Given the description of an element on the screen output the (x, y) to click on. 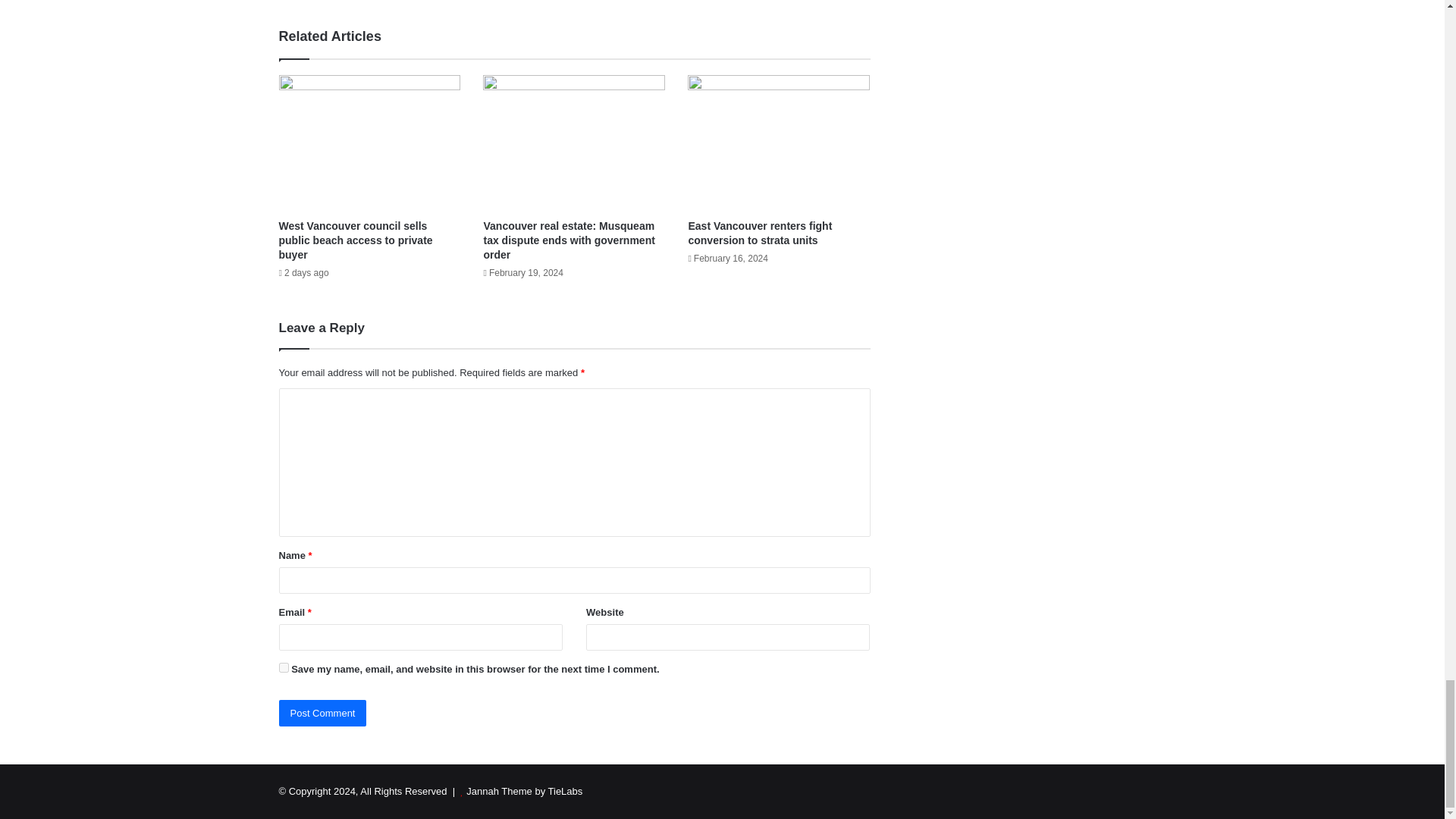
yes (283, 667)
Post Comment (322, 713)
